Given the description of an element on the screen output the (x, y) to click on. 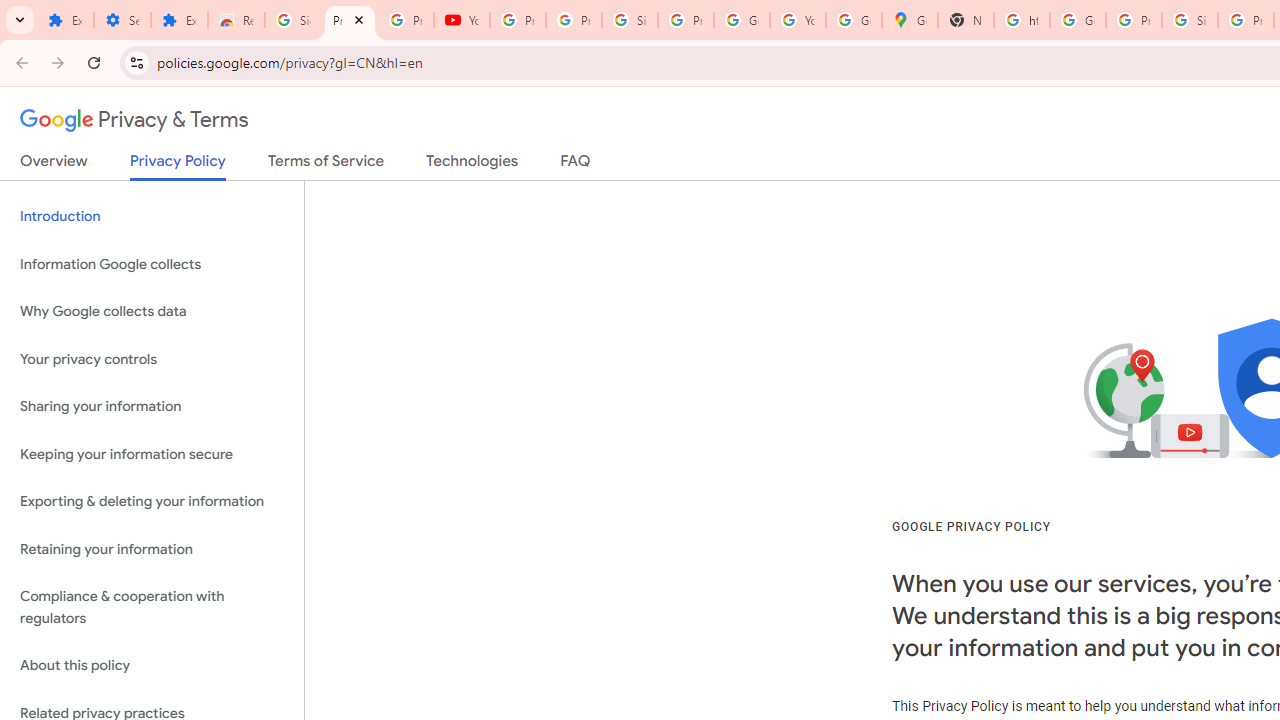
Settings (122, 20)
Google Account (742, 20)
Extensions (179, 20)
Sharing your information (152, 407)
Extensions (65, 20)
Keeping your information secure (152, 453)
